Given the description of an element on the screen output the (x, y) to click on. 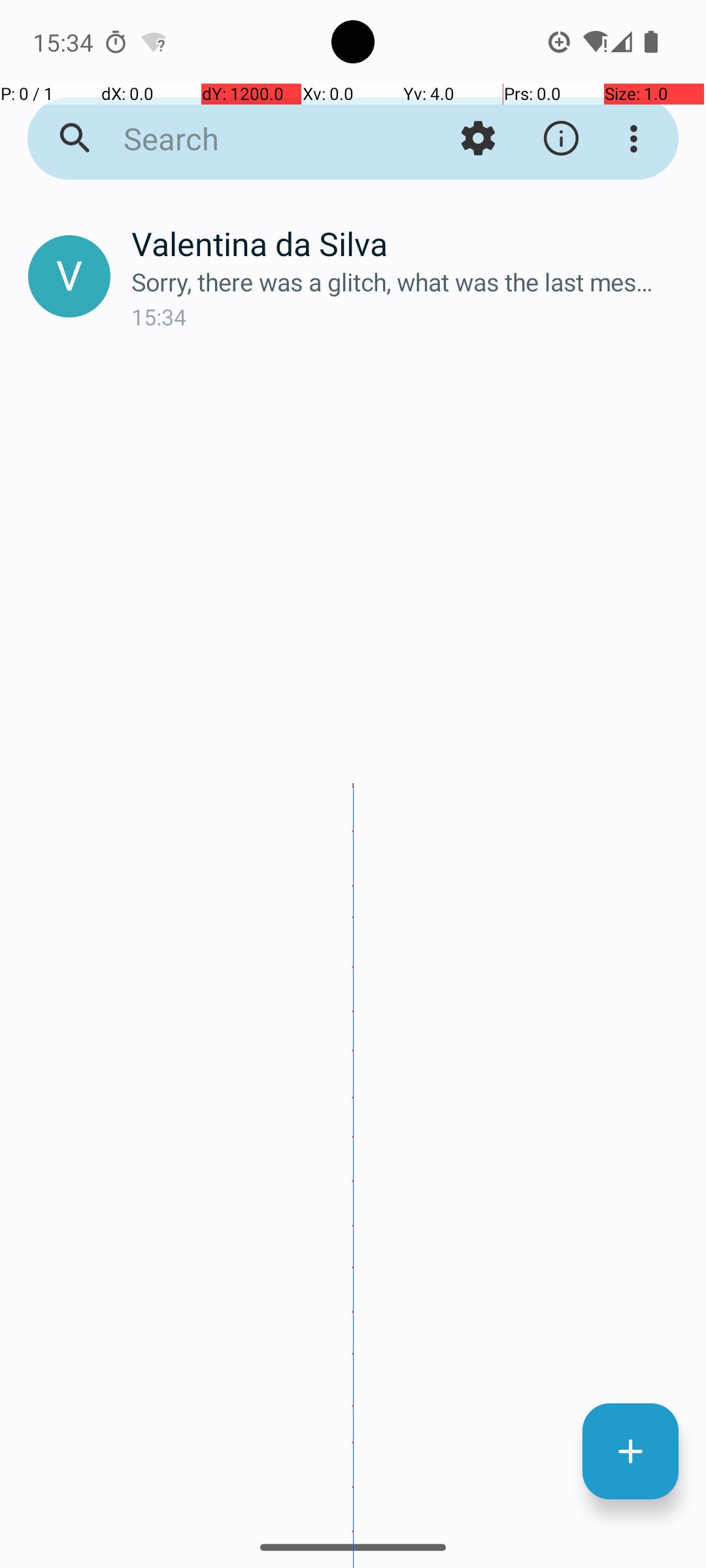
Valentina da Silva Element type: android.widget.TextView (408, 242)
